Given the description of an element on the screen output the (x, y) to click on. 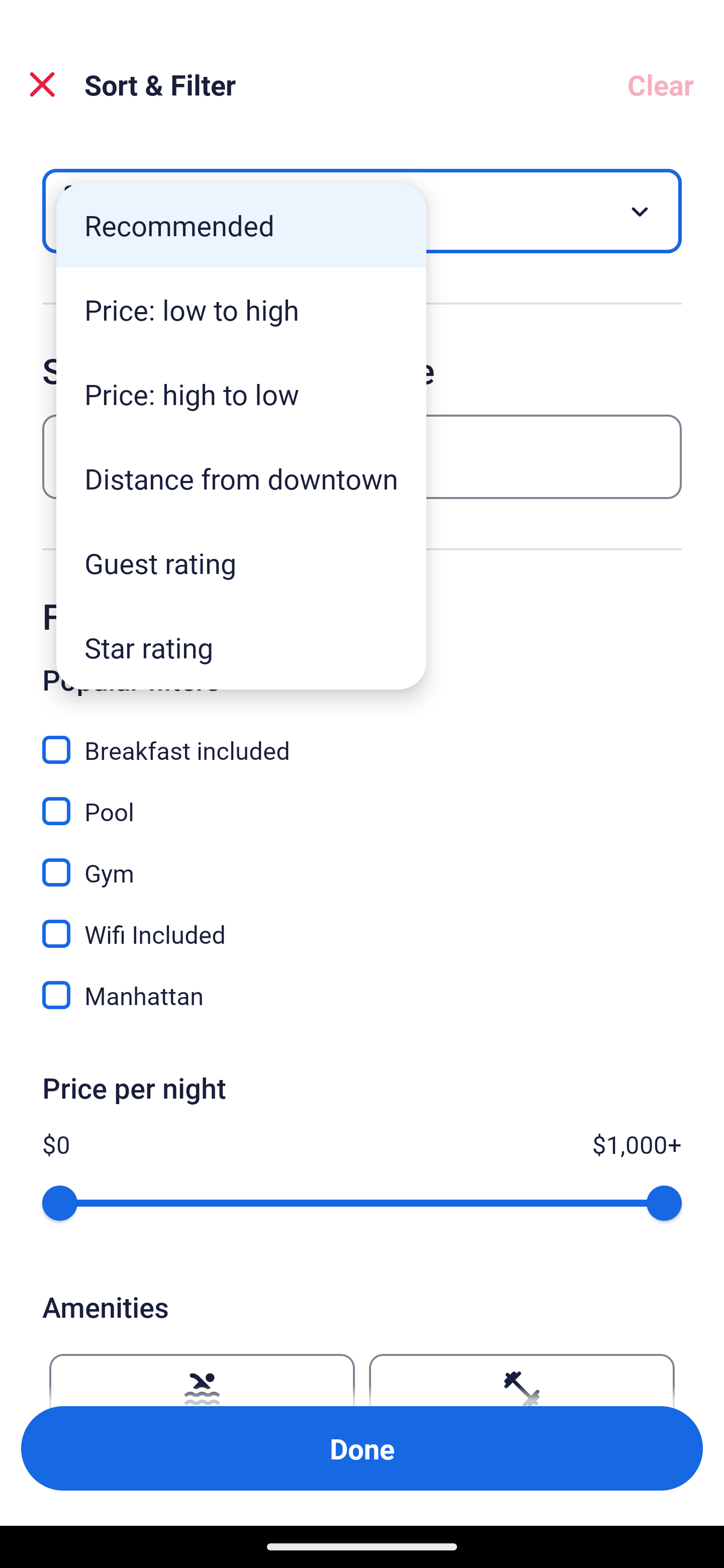
Price: low to high (241, 309)
Price: high to low (241, 393)
Distance from downtown (241, 477)
Guest rating (241, 562)
Star rating (241, 647)
